Given the description of an element on the screen output the (x, y) to click on. 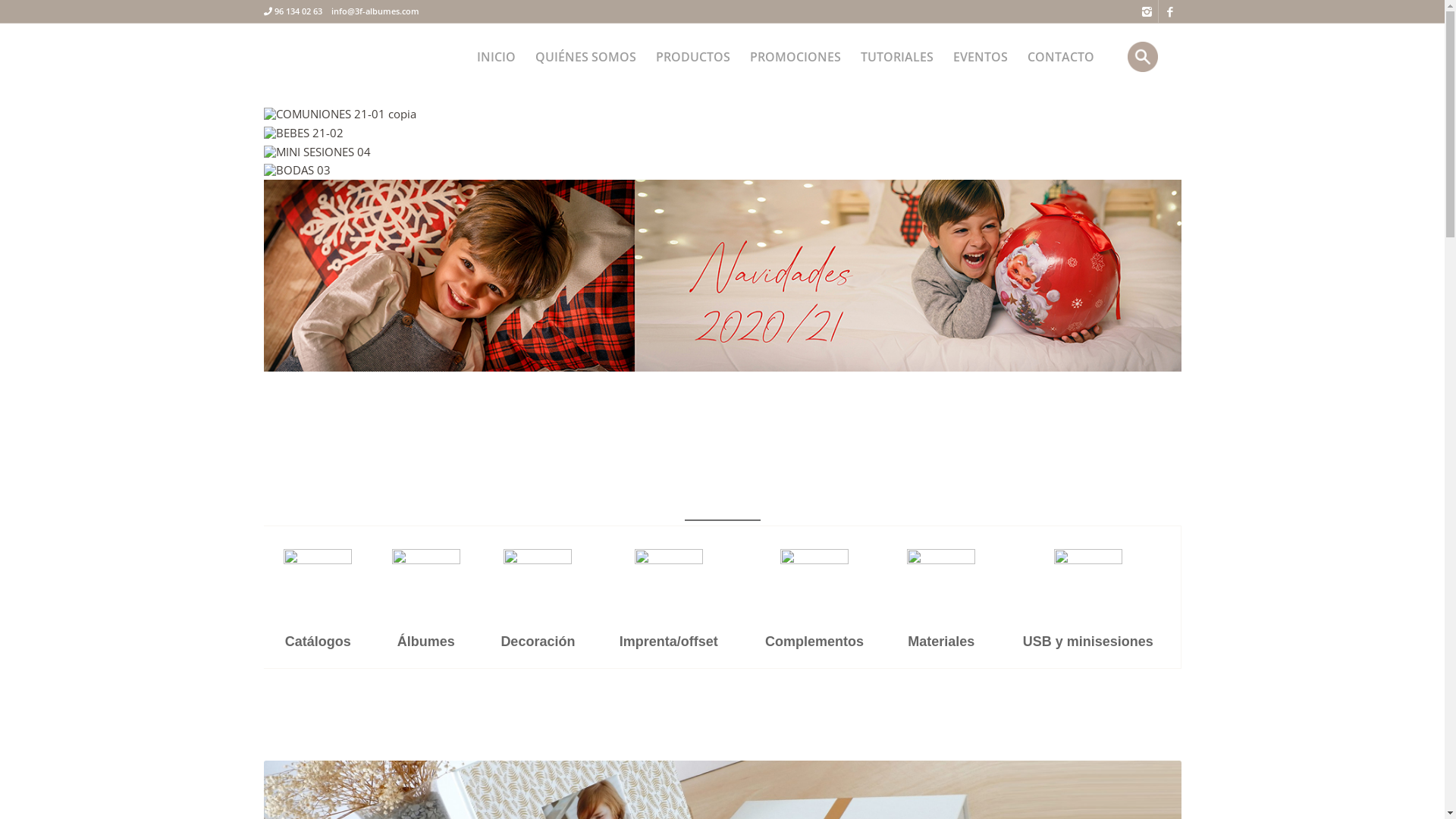
EVENTOS Element type: text (980, 56)
Instagram Element type: hover (1146, 11)
CONTACTO Element type: text (1060, 56)
INICIO Element type: text (496, 56)
TUTORIALES Element type: text (896, 56)
PRODUCTOS Element type: text (693, 56)
Facebook Element type: hover (1169, 11)
PROMOCIONES Element type: text (795, 56)
